Given the description of an element on the screen output the (x, y) to click on. 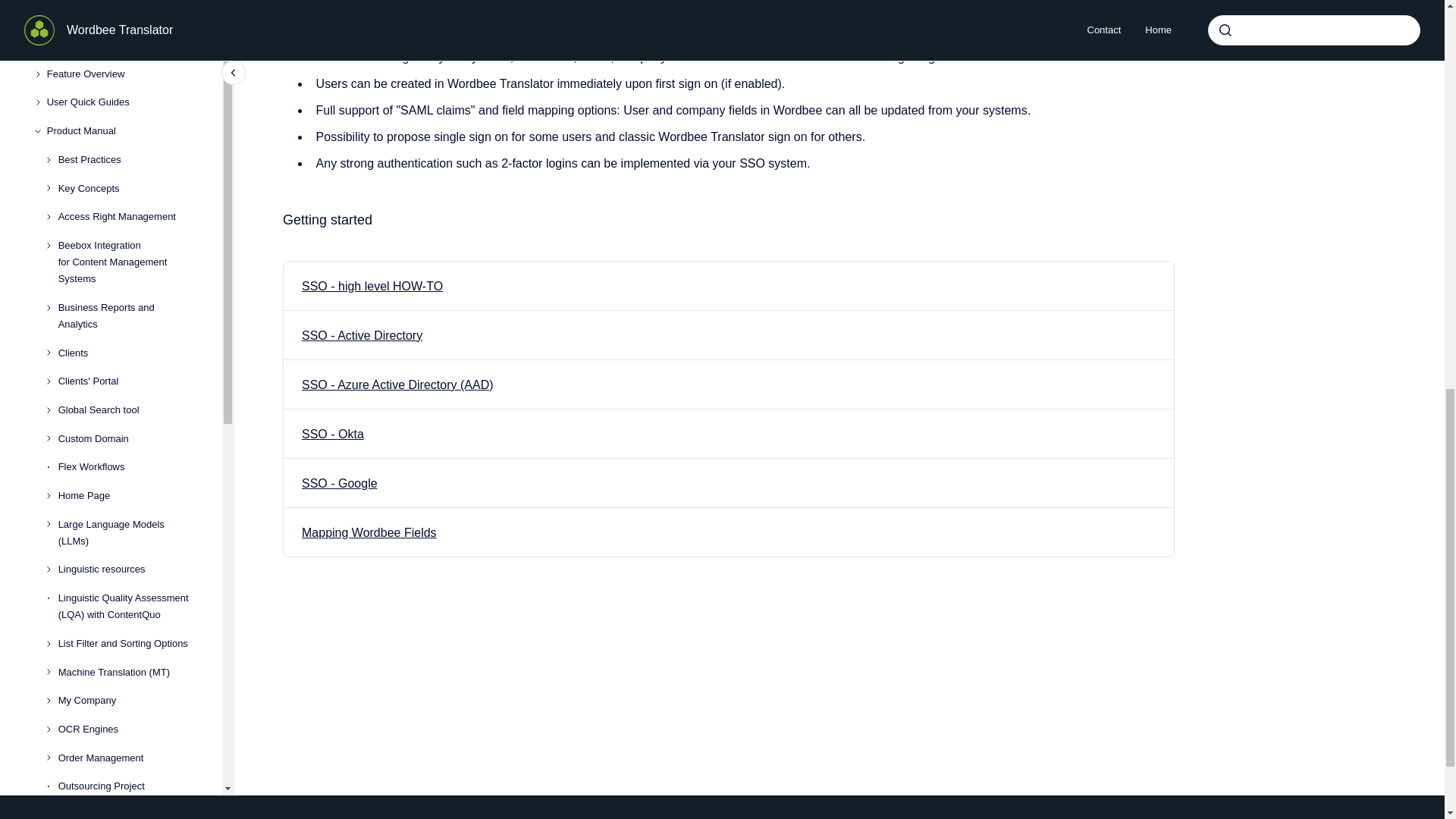
Mapping Wordbee Fields (368, 532)
SSO - high level HOW-TO (371, 286)
SSO - Google (339, 482)
SSO - Okta (332, 433)
SSO - Active Directory (361, 335)
